Given the description of an element on the screen output the (x, y) to click on. 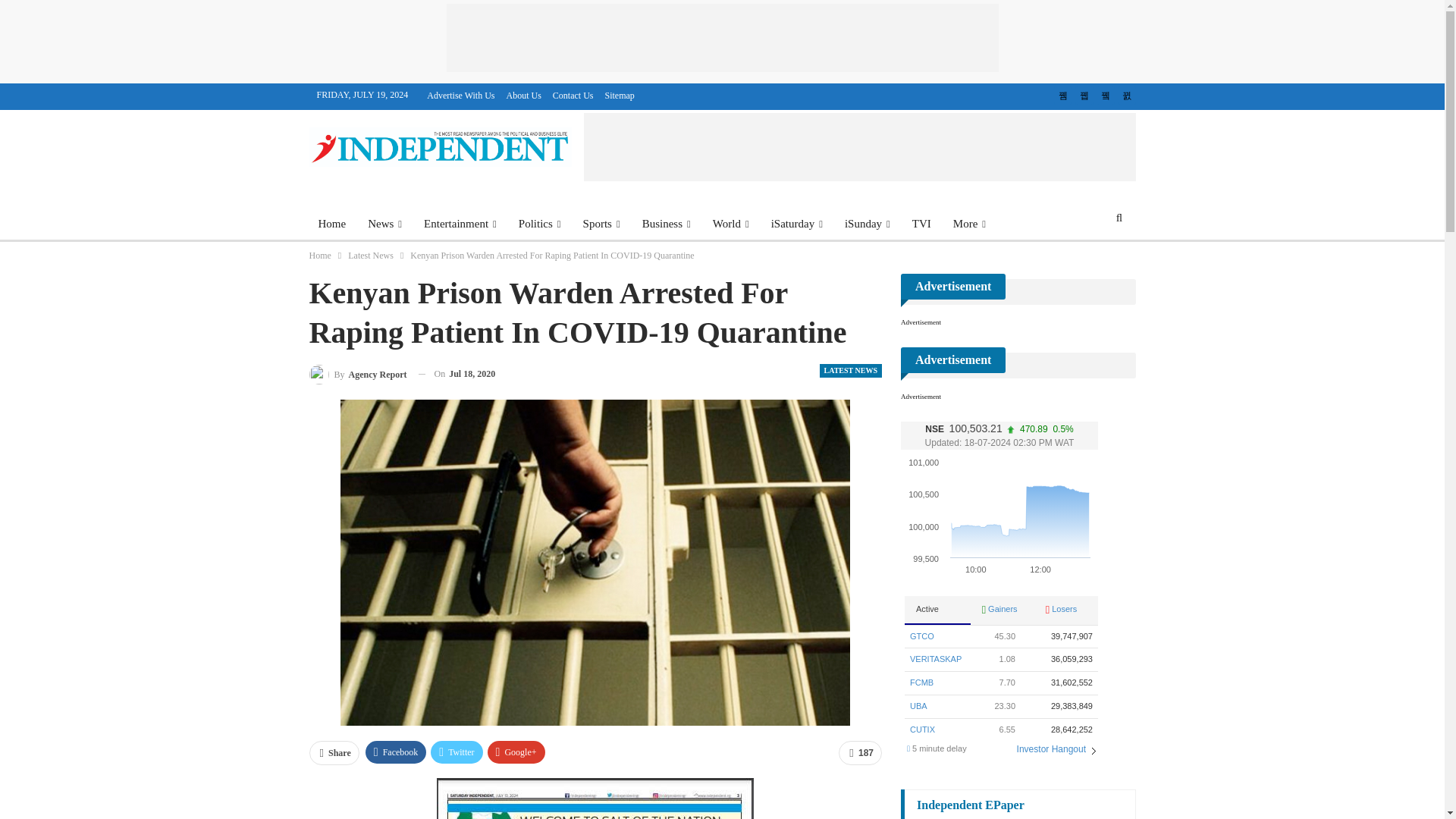
Home (331, 223)
About Us (523, 95)
Advertisement (721, 38)
Entertainment (459, 223)
Advertisement (859, 146)
News (384, 223)
Contact Us (573, 95)
Sitemap (619, 95)
Politics (539, 223)
Advertise With Us (460, 95)
